Given the description of an element on the screen output the (x, y) to click on. 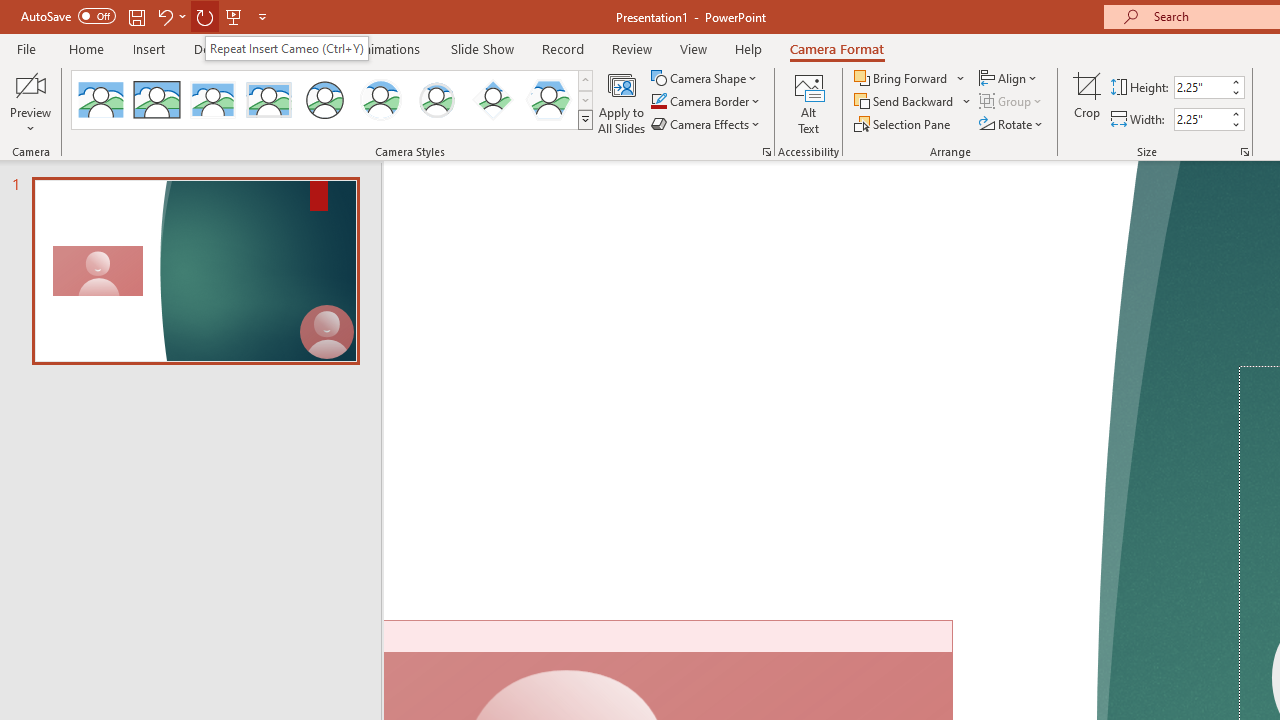
Send Backward (905, 101)
Center Shadow Diamond (492, 100)
Insert (149, 48)
